Given the description of an element on the screen output the (x, y) to click on. 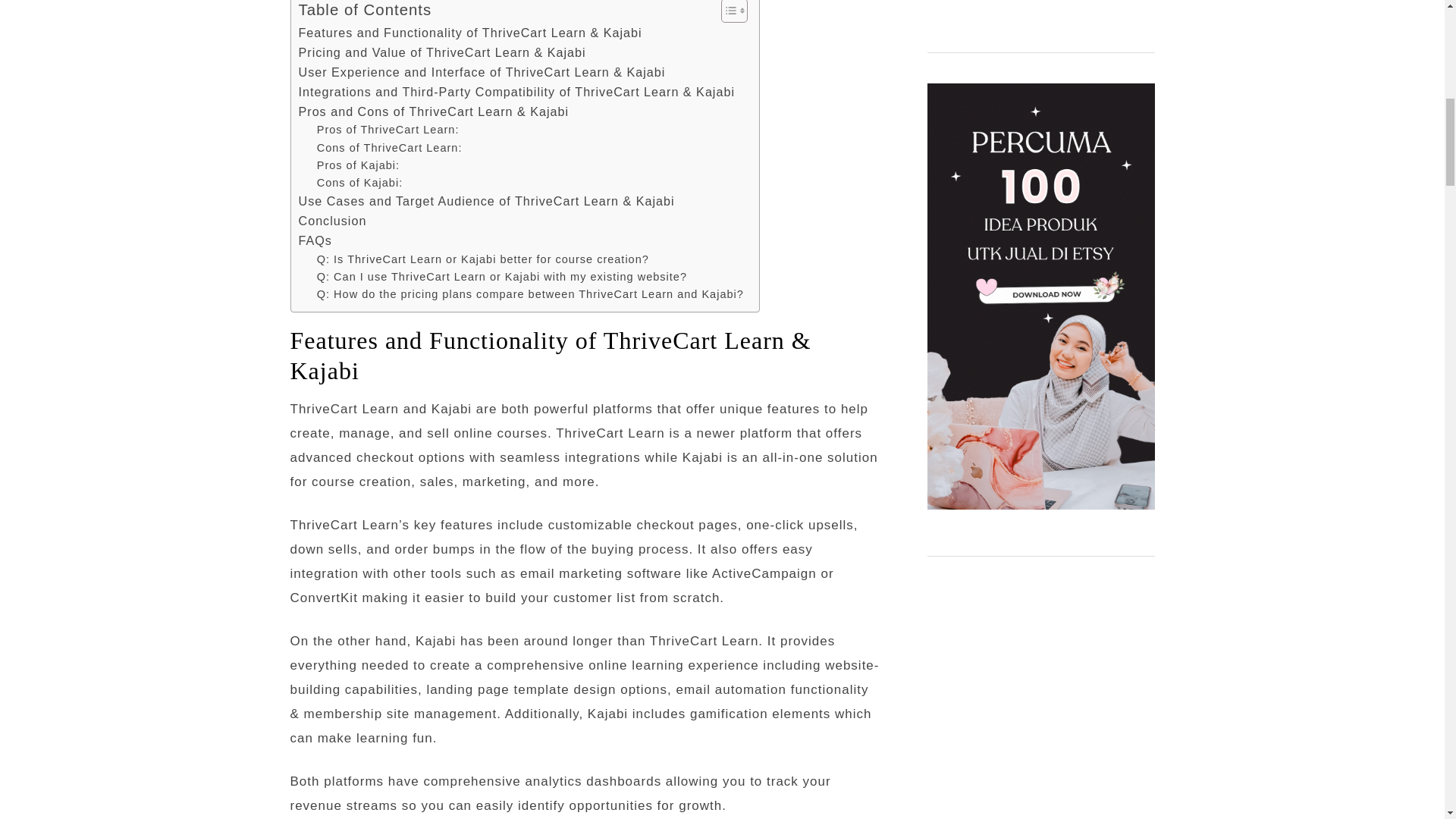
Pros of ThriveCart Learn: (388, 129)
Q: Is ThriveCart Learn or Kajabi better for course creation? (483, 259)
Pros of ThriveCart Learn: (388, 129)
Cons of Kajabi: (360, 182)
Cons of ThriveCart Learn: (390, 148)
FAQs (314, 240)
Pros of Kajabi: (357, 165)
Conclusion (332, 220)
